Given the description of an element on the screen output the (x, y) to click on. 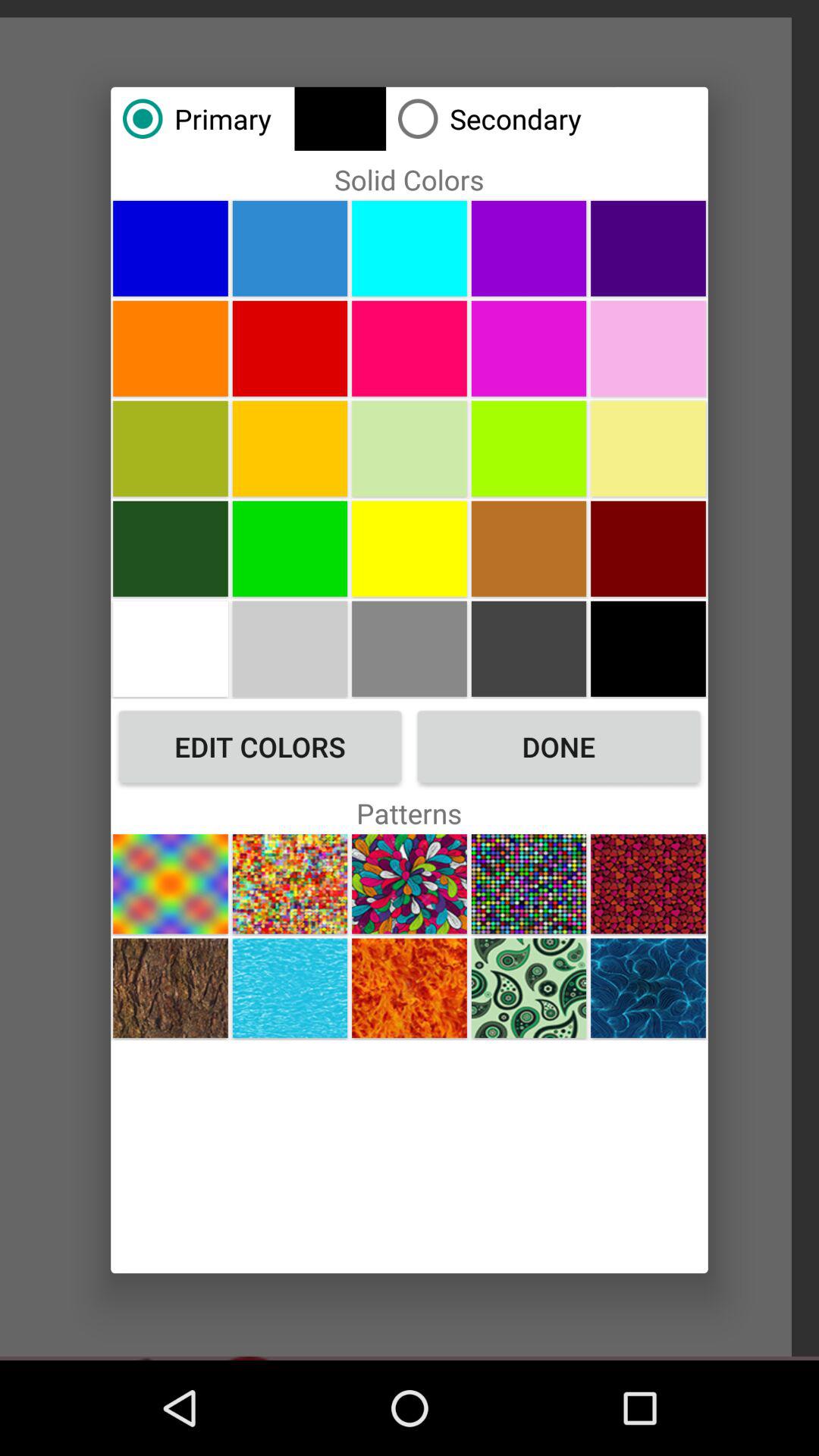
open the icon below edit colors button (170, 883)
